Given the description of an element on the screen output the (x, y) to click on. 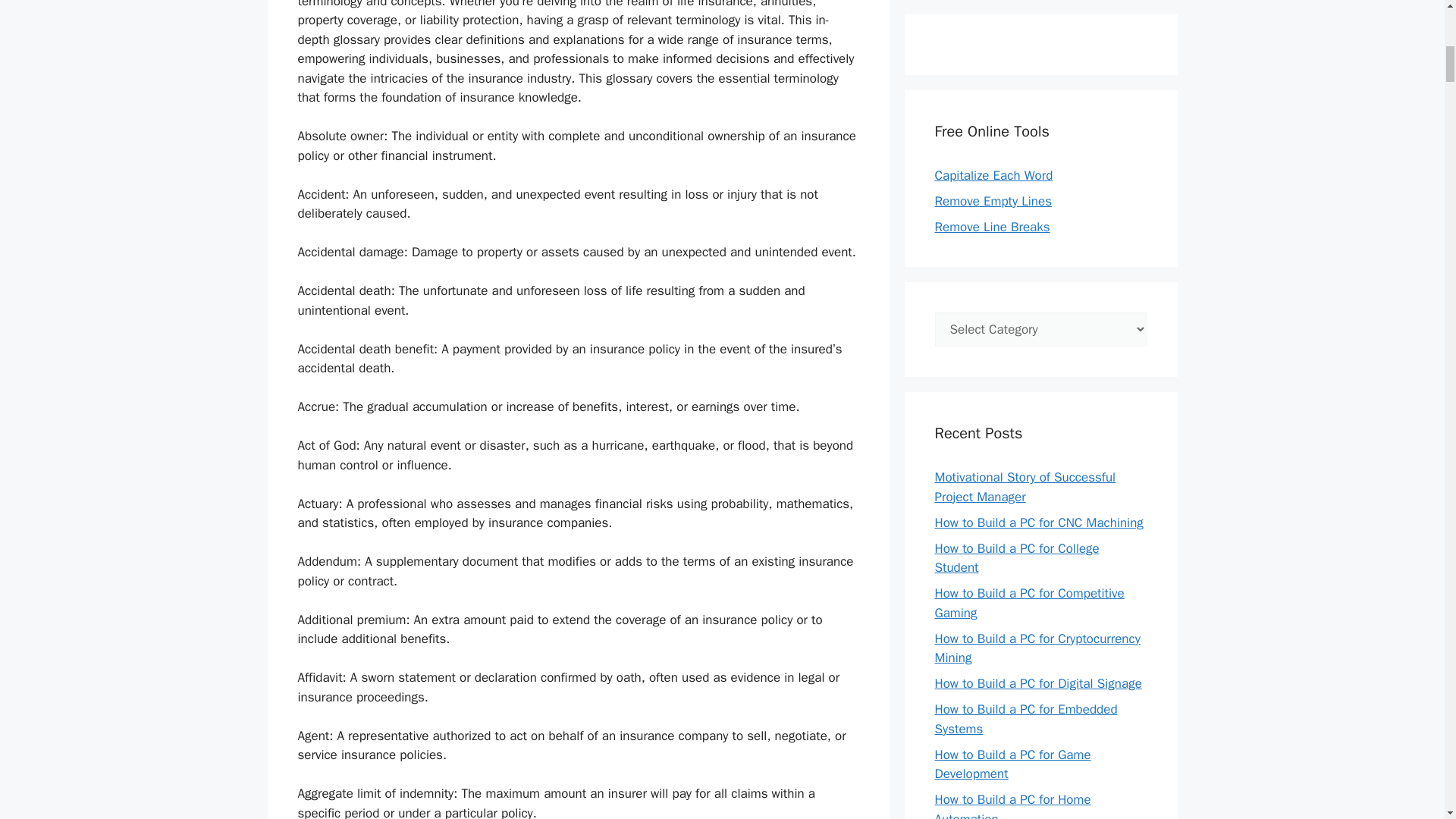
Remove Empty Lines (992, 200)
Capitalize Each Word (993, 174)
Remove Line Breaks (991, 226)
